Given the description of an element on the screen output the (x, y) to click on. 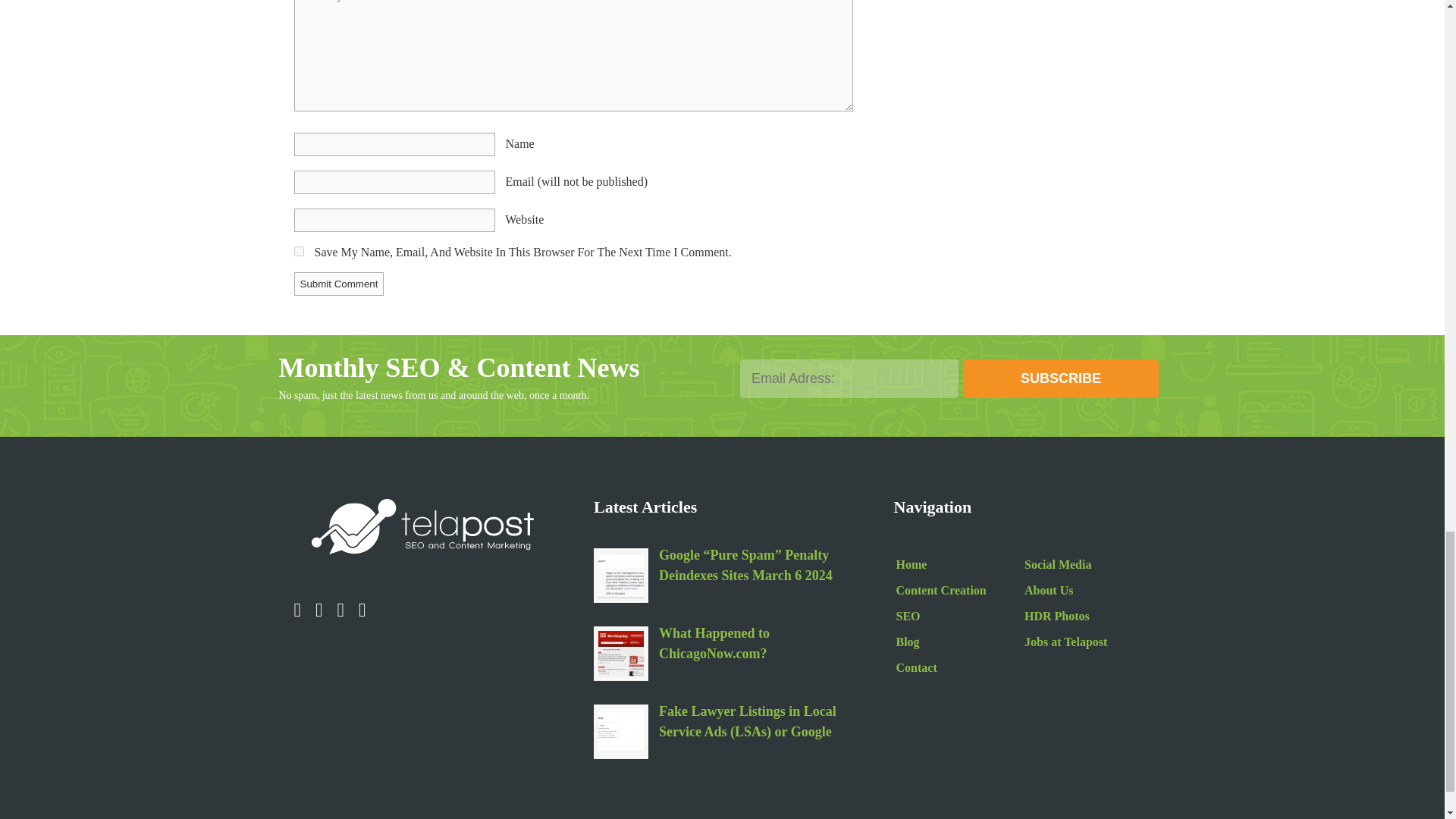
What Happened to ChicagoNow.com? (754, 645)
What Happened to ChicagoNow.com? (620, 653)
yes (299, 251)
Submit Comment (339, 283)
Subscribe (1060, 378)
Submit Comment (339, 283)
